Given the description of an element on the screen output the (x, y) to click on. 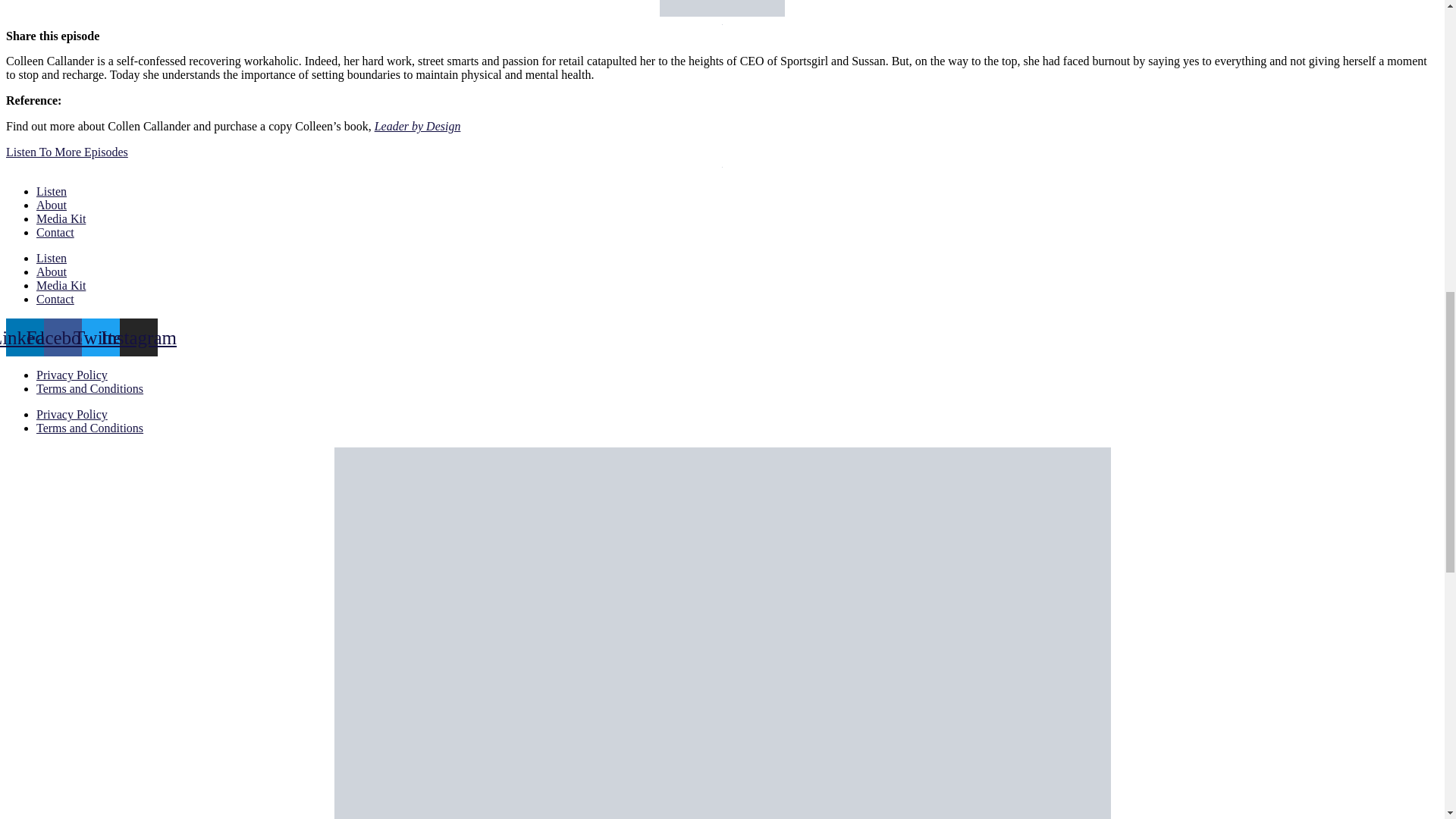
Contact (55, 298)
Media Kit (60, 218)
Facebook (62, 337)
Media Kit (60, 285)
Listen (51, 257)
Instagram (138, 337)
About (51, 205)
About (51, 271)
Privacy Policy (71, 374)
Listen (51, 191)
